Given the description of an element on the screen output the (x, y) to click on. 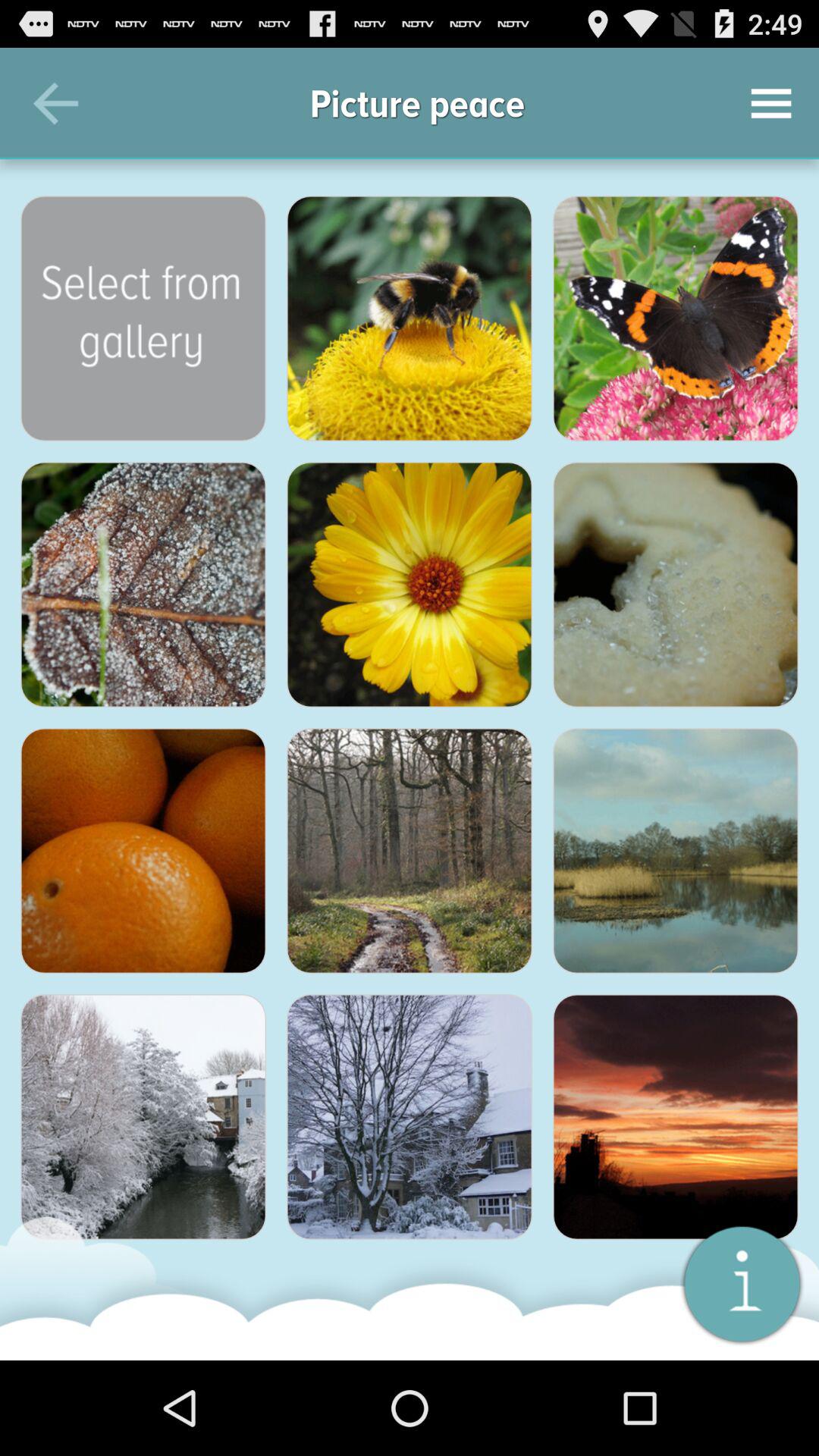
open the image in full view (409, 850)
